Given the description of an element on the screen output the (x, y) to click on. 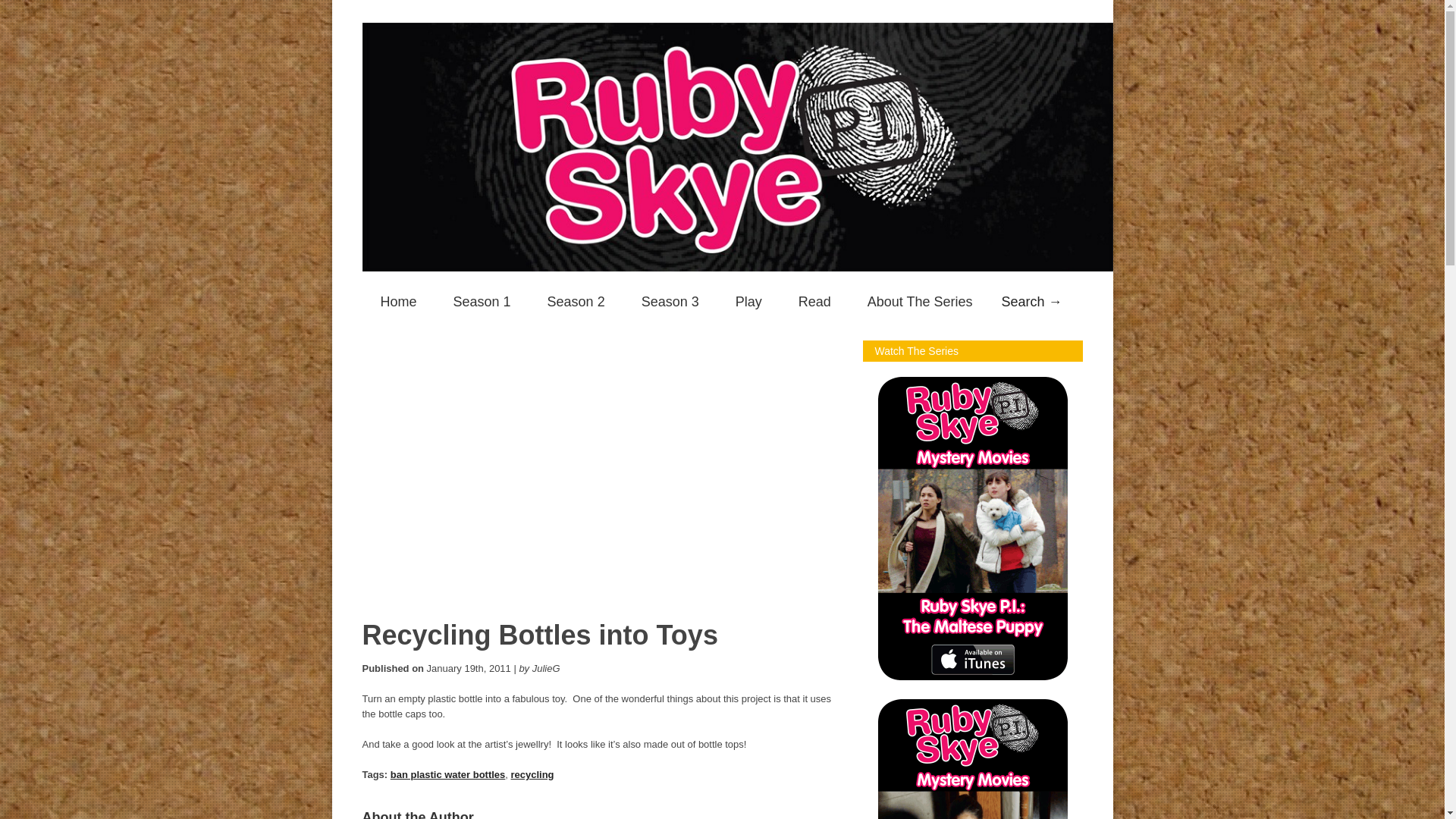
Season 3 (670, 301)
Season 2 (576, 301)
Home (398, 301)
Season 1 (482, 301)
